Given the description of an element on the screen output the (x, y) to click on. 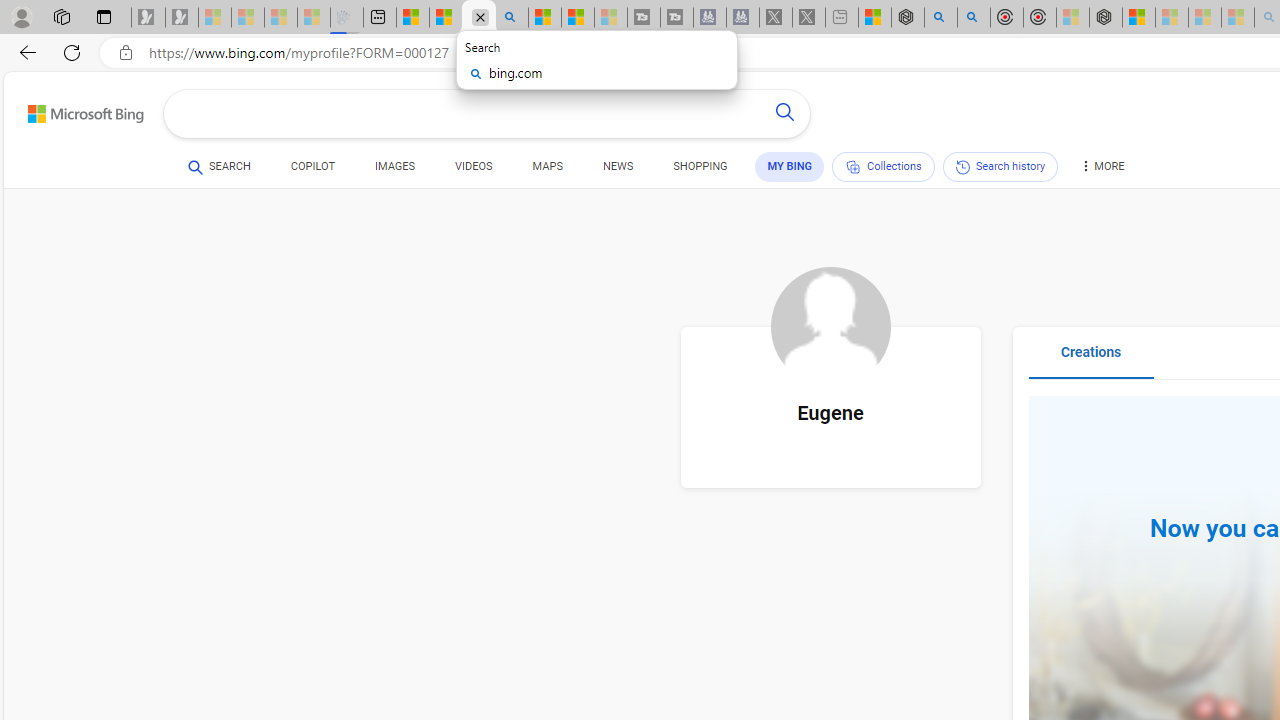
NEWS (618, 169)
Dropdown Menu (1101, 166)
Back to Bing search (73, 110)
Search button (784, 114)
